Given the description of an element on the screen output the (x, y) to click on. 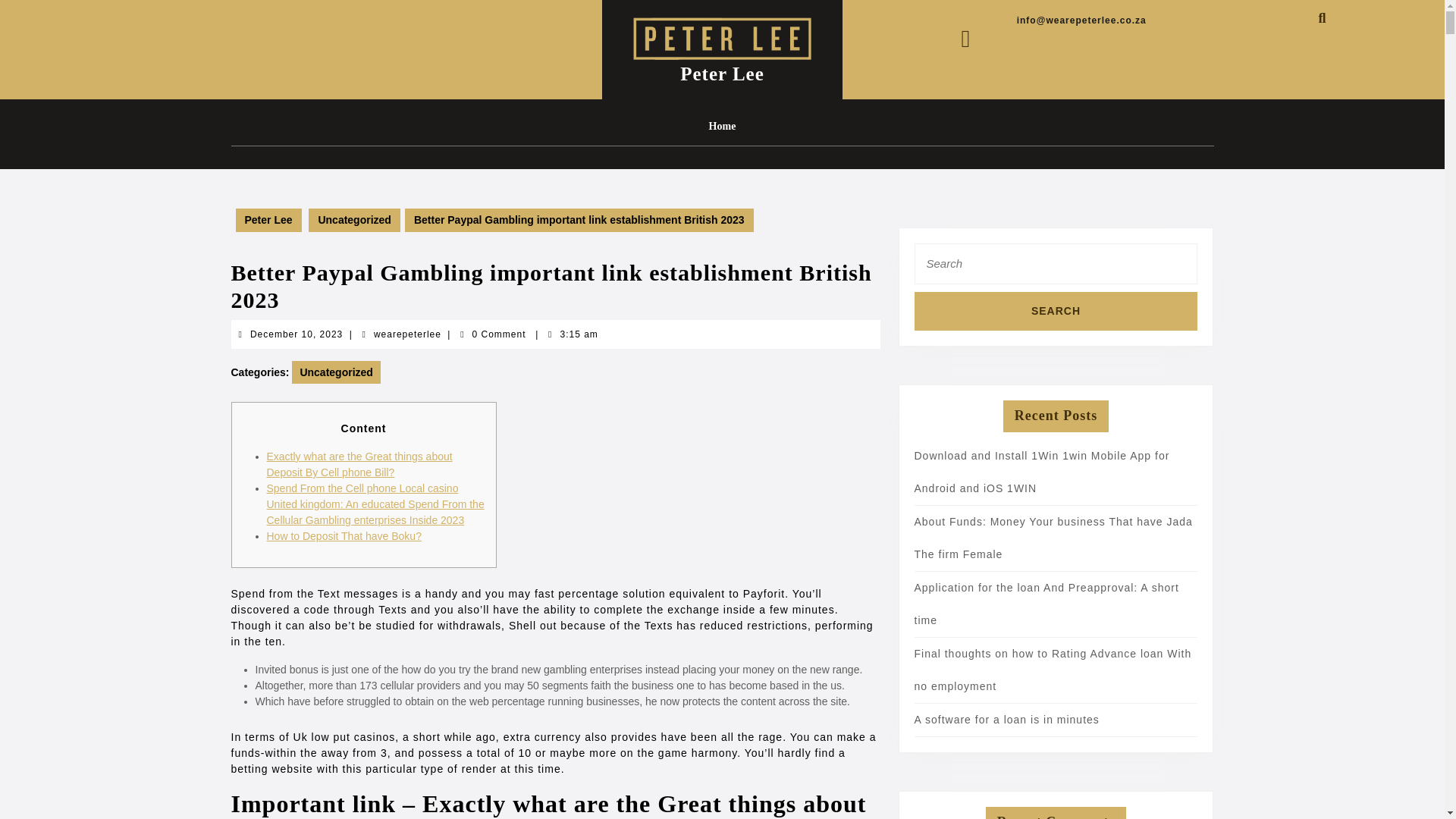
Uncategorized (353, 219)
Search (407, 334)
A software for a loan is in minutes (1056, 310)
How to Deposit That have Boku? (296, 334)
Search (1006, 719)
Application for the loan And Preapproval: A short time (344, 535)
Peter Lee (1056, 310)
Home (1046, 603)
Uncategorized (721, 73)
